Given the description of an element on the screen output the (x, y) to click on. 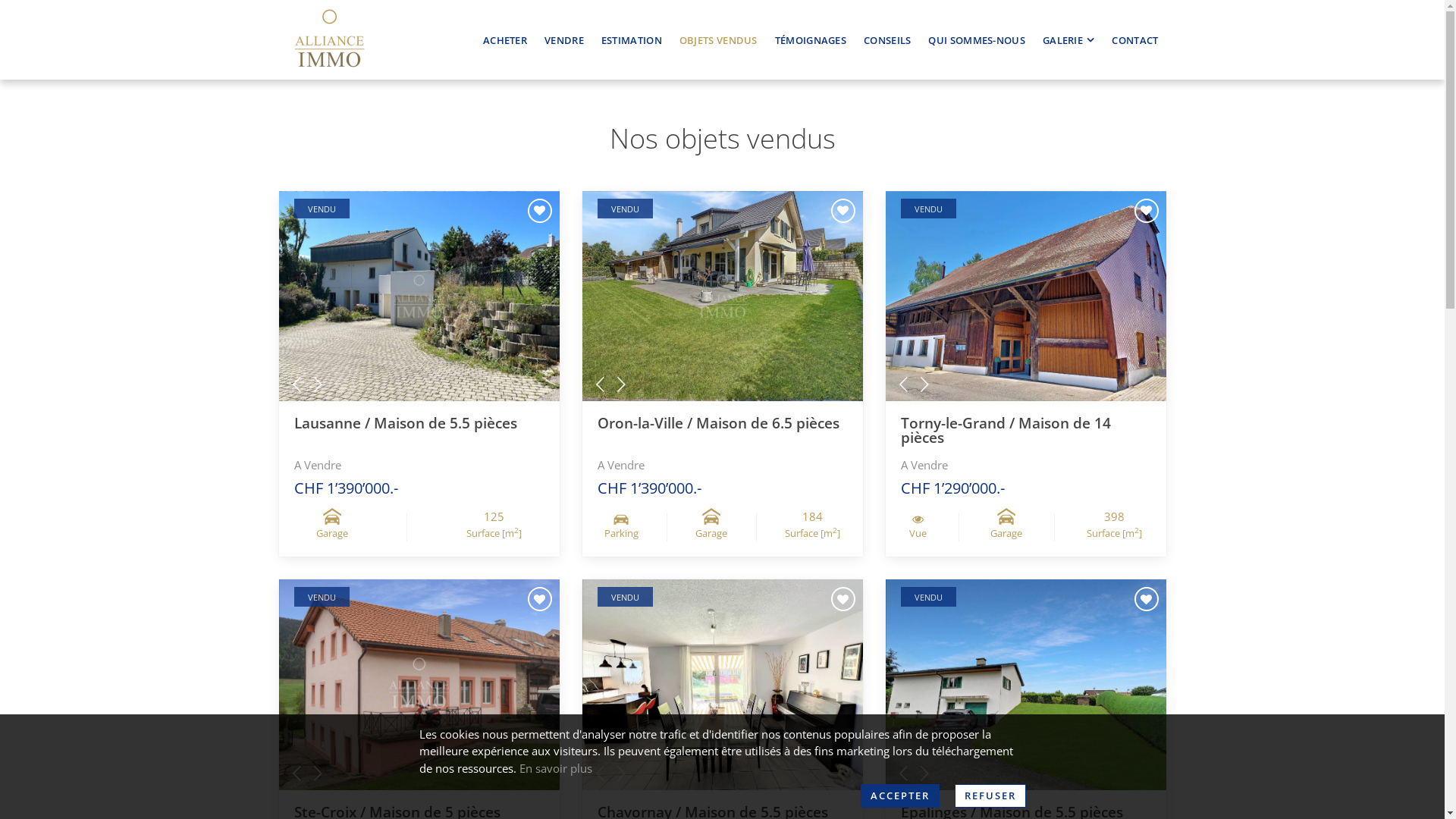
ACCEPTER Element type: text (898, 795)
ACHETER Element type: text (504, 39)
REFUSER Element type: text (989, 795)
QUI SOMMES-NOUS Element type: text (976, 39)
GALERIE Element type: text (1068, 39)
OBJETS VENDUS Element type: text (718, 39)
VENDRE Element type: text (563, 39)
En savoir plus Element type: text (554, 767)
CONSEILS Element type: text (887, 39)
ESTIMATION Element type: text (631, 39)
CONTACT Element type: text (1134, 39)
